Given the description of an element on the screen output the (x, y) to click on. 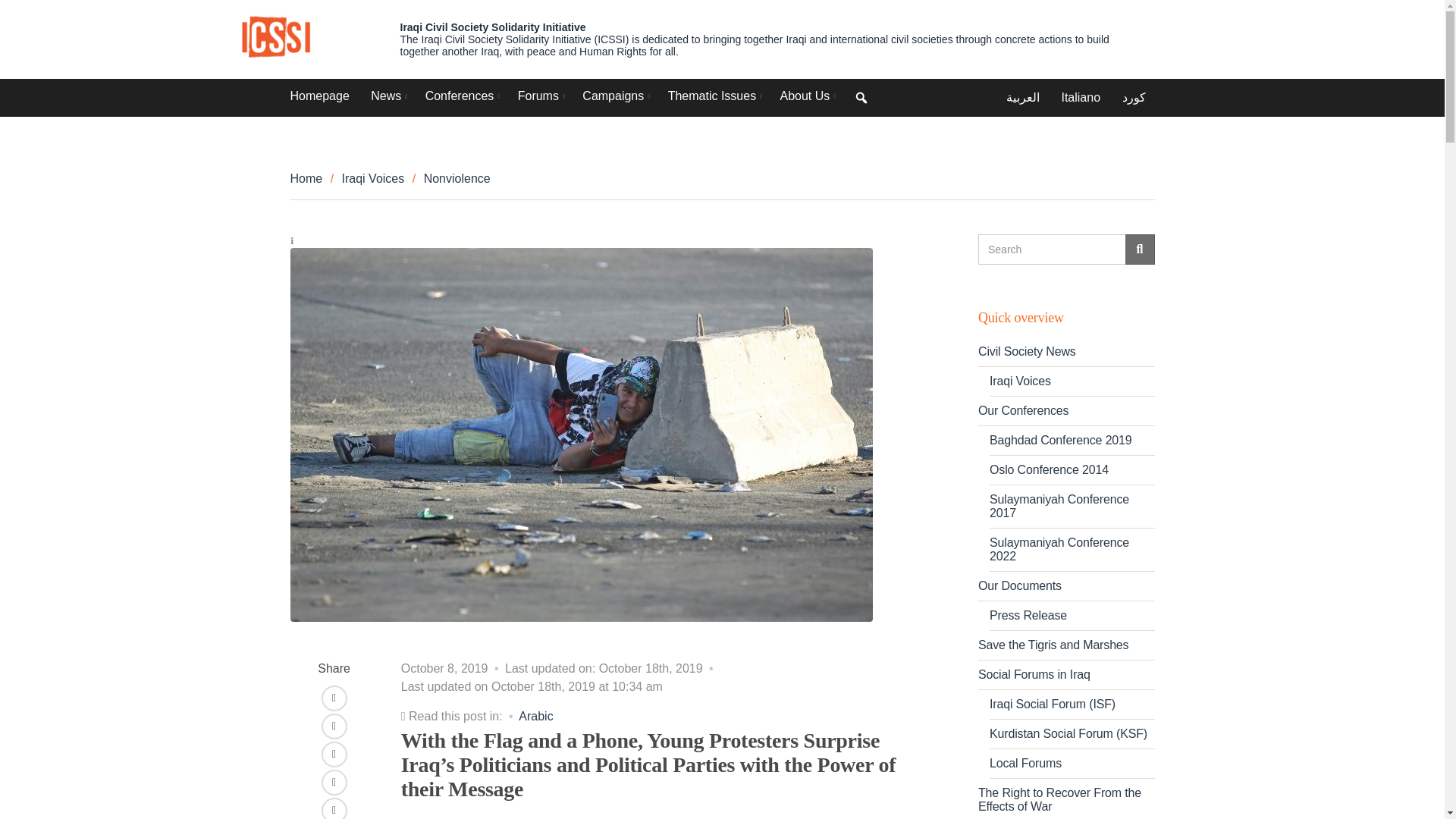
News (387, 95)
Homepage (319, 95)
Thematic Issues (713, 95)
Conferences (460, 95)
Forums (539, 95)
Campaigns (614, 95)
